Given the description of an element on the screen output the (x, y) to click on. 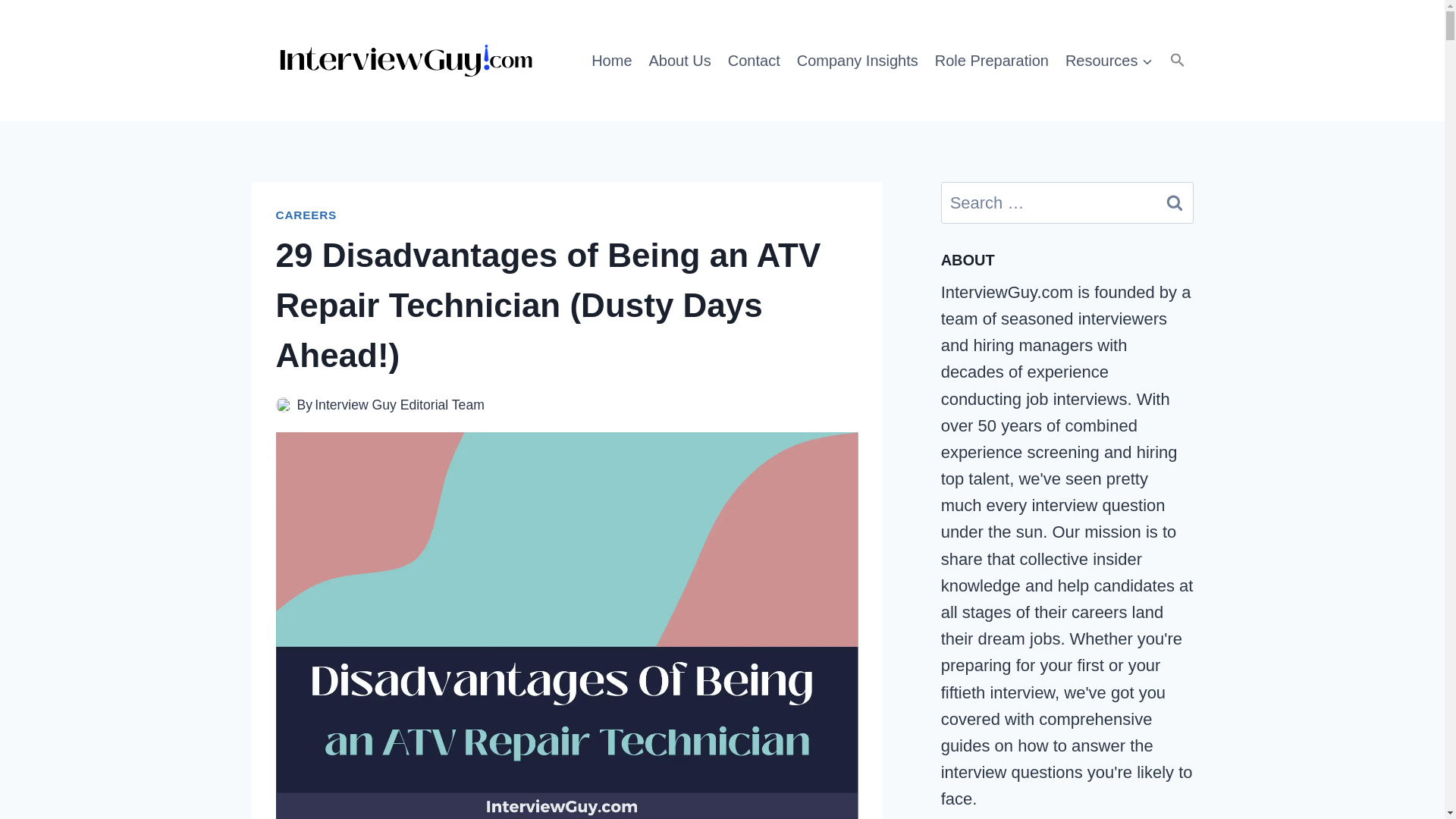
CAREERS (306, 214)
About Us (679, 60)
Search (1174, 202)
Role Preparation (991, 60)
Search (1174, 202)
Company Insights (857, 60)
Resources (1109, 60)
Interview Guy Editorial Team (399, 404)
